Given the description of an element on the screen output the (x, y) to click on. 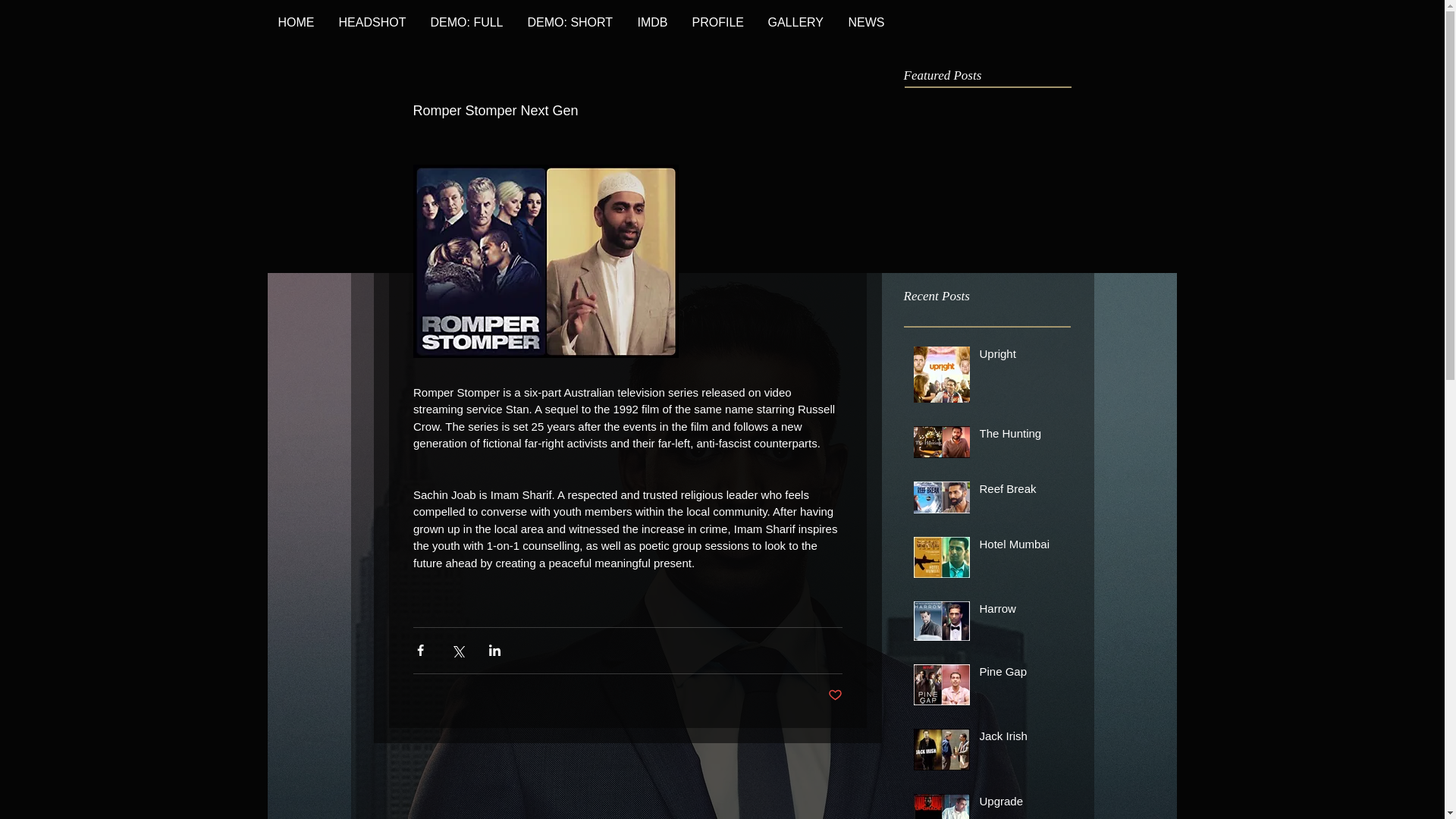
NEWS (865, 22)
Reef Break (1020, 491)
Post not marked as liked (835, 695)
PROFILE (717, 22)
Harrow (1020, 611)
GALLERY (795, 22)
HOME (295, 22)
Upright (1020, 356)
IMDB (651, 22)
HEADSHOT (371, 22)
